Given the description of an element on the screen output the (x, y) to click on. 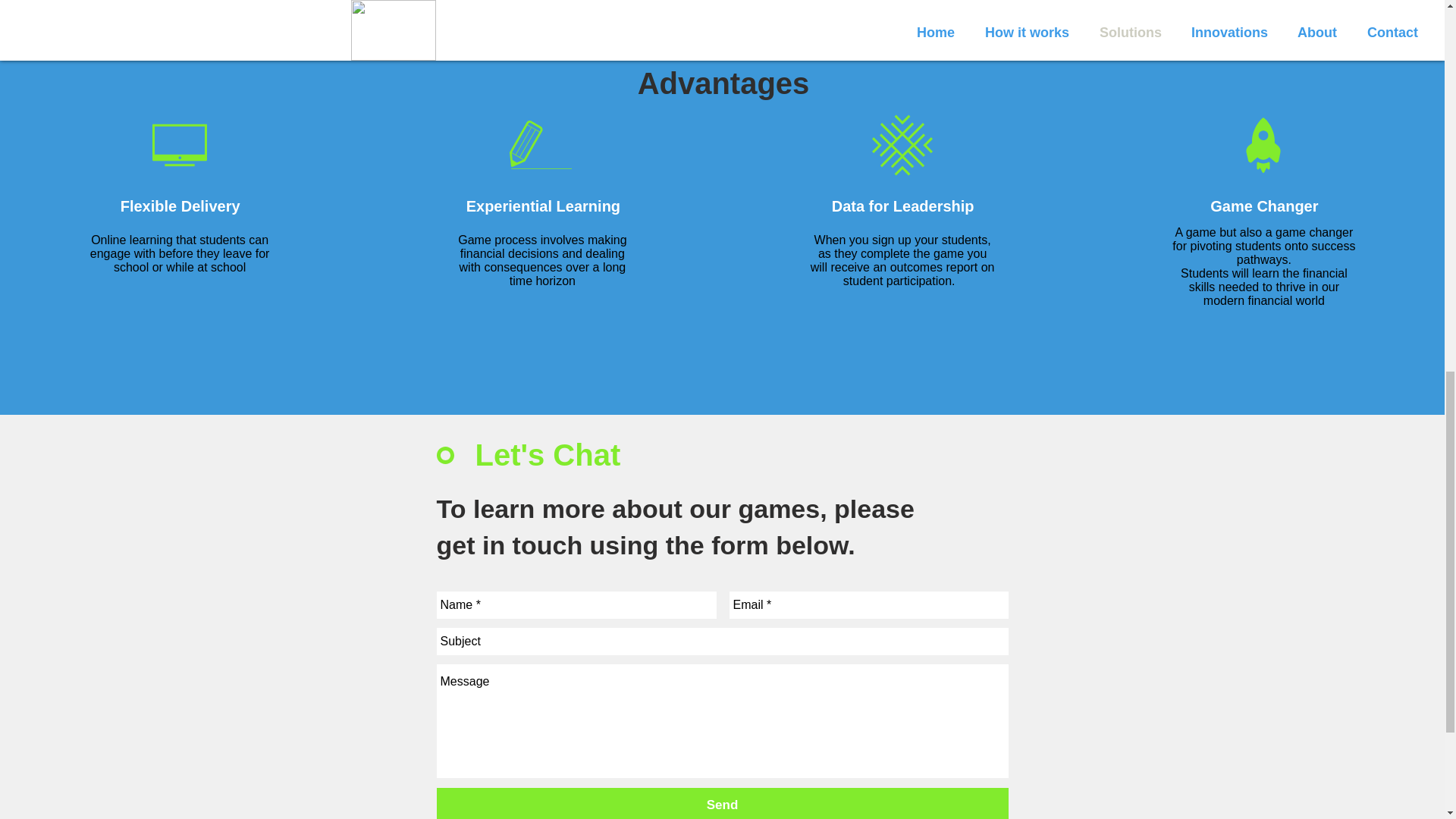
Send (722, 803)
